Given the description of an element on the screen output the (x, y) to click on. 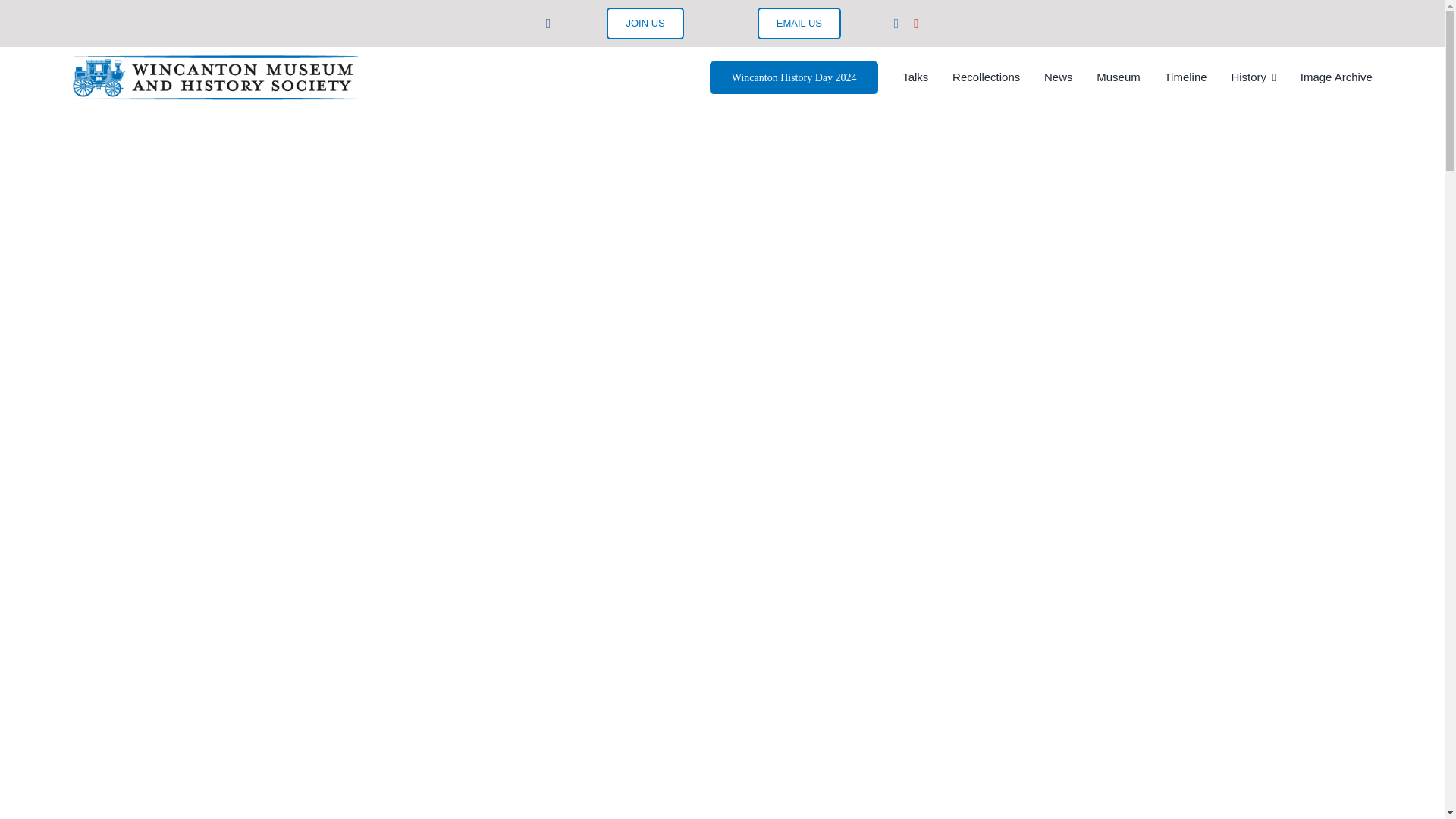
JOIN US (644, 23)
History (1253, 76)
Wincanton History Day 2024 (794, 76)
Museum (1118, 76)
News (1058, 76)
Talks (915, 76)
EMAIL US (799, 23)
Image Archive (1336, 76)
Recollections (986, 76)
Timeline (1185, 76)
